Given the description of an element on the screen output the (x, y) to click on. 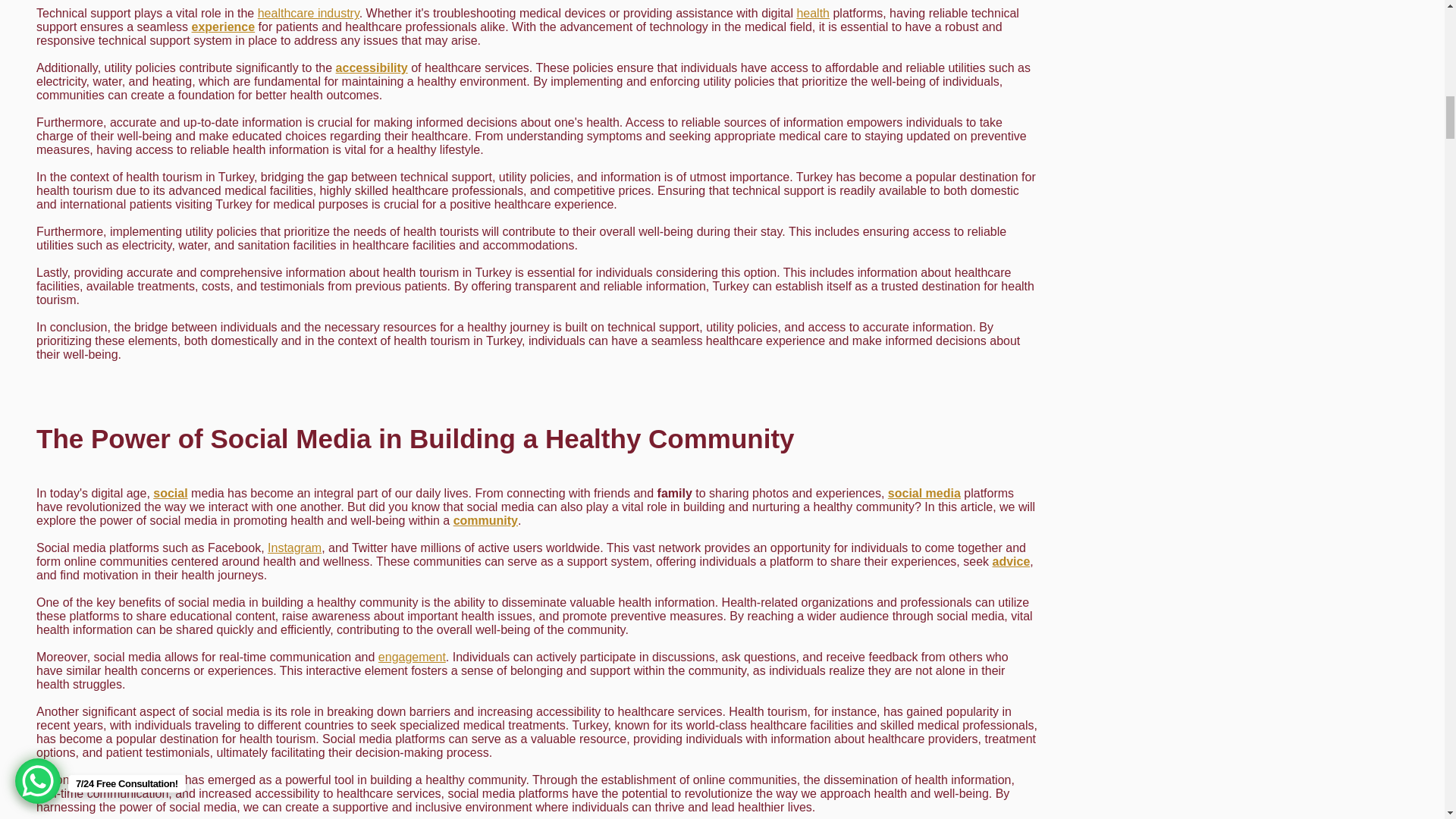
healthcare industry (308, 12)
engagement (411, 656)
health (812, 12)
Instagram (294, 547)
